Given the description of an element on the screen output the (x, y) to click on. 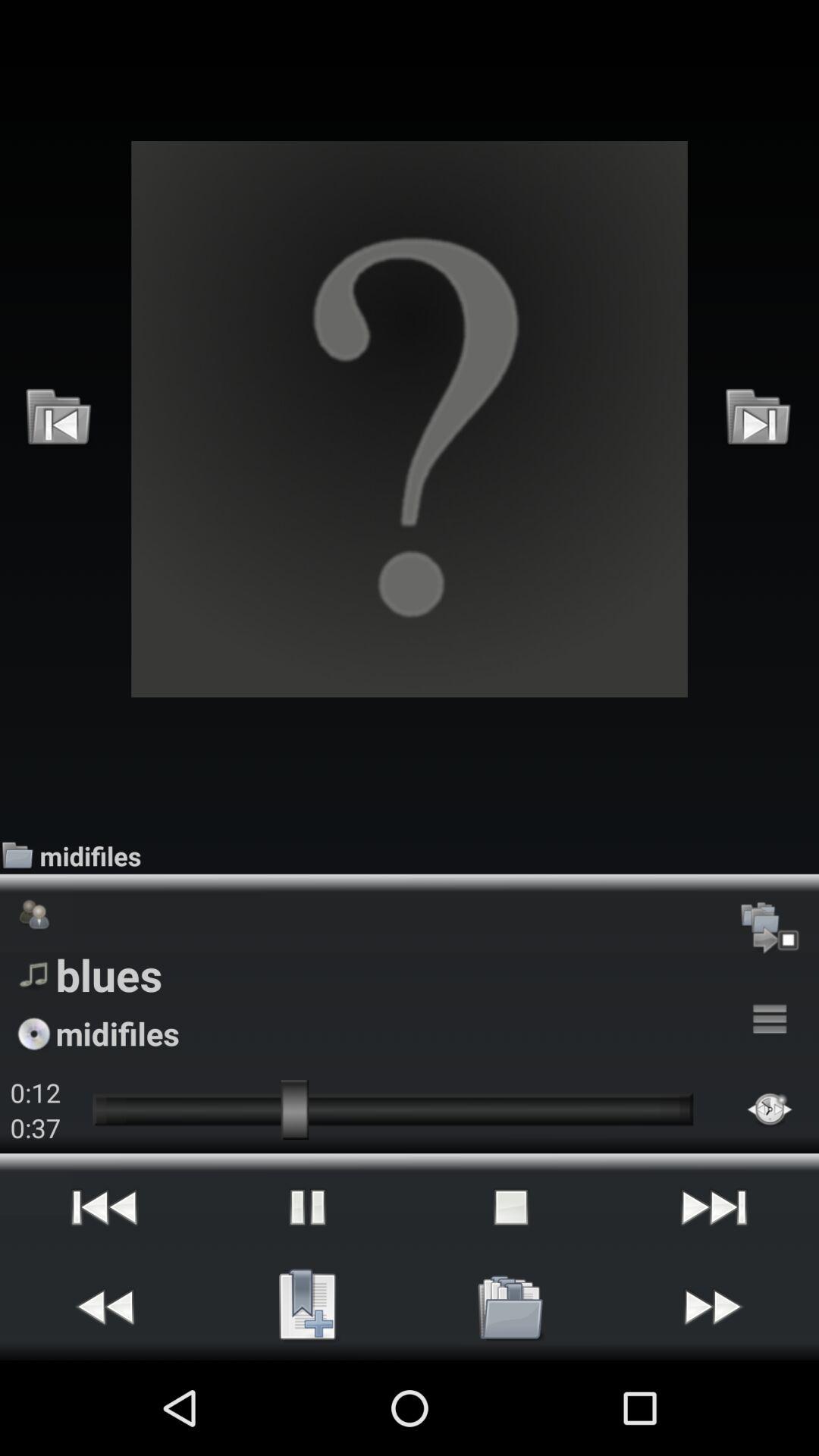
tap item at the top (409, 419)
